Given the description of an element on the screen output the (x, y) to click on. 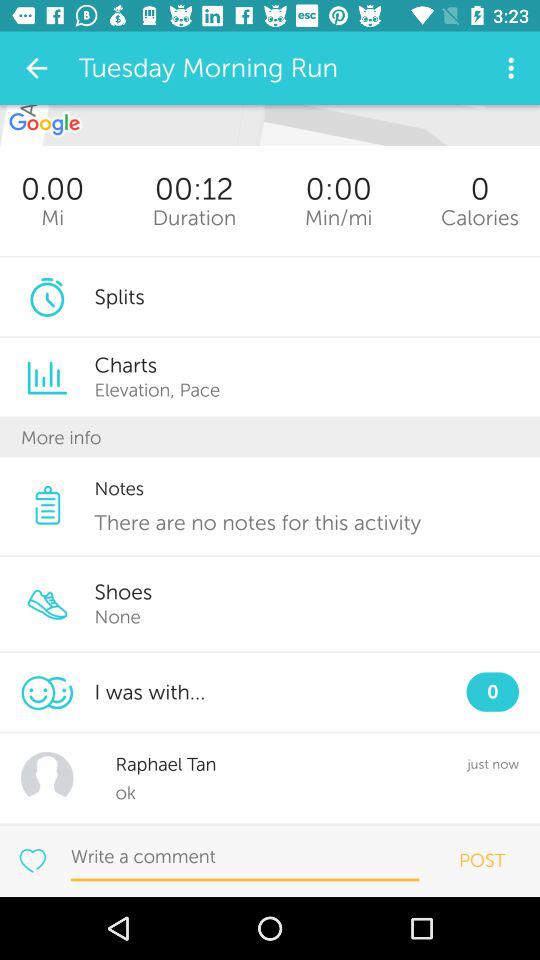
tap item next to the tuesday morning run item (36, 68)
